Given the description of an element on the screen output the (x, y) to click on. 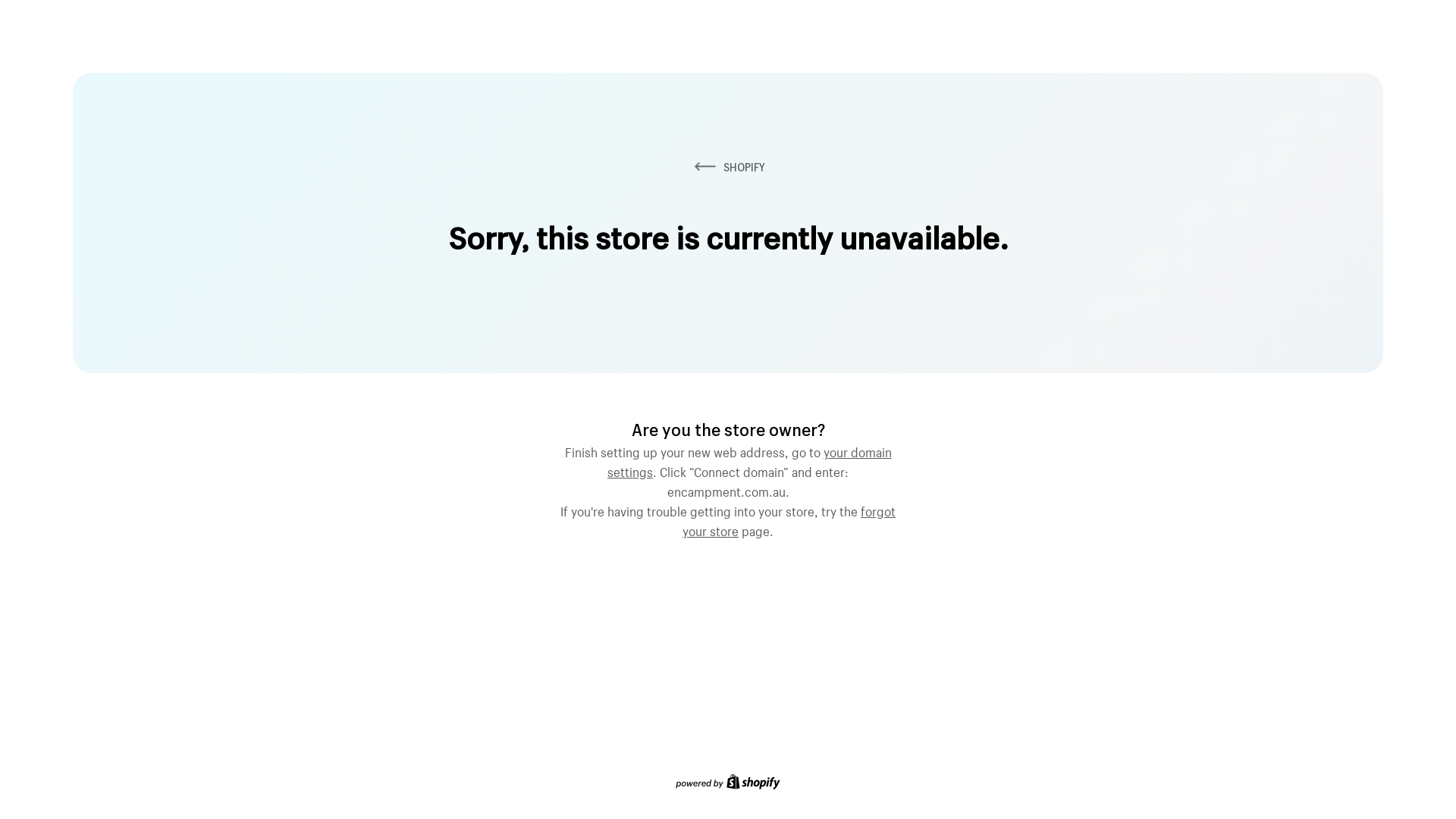
your domain settings Element type: text (749, 460)
SHOPIFY Element type: text (727, 167)
forgot your store Element type: text (788, 519)
